Given the description of an element on the screen output the (x, y) to click on. 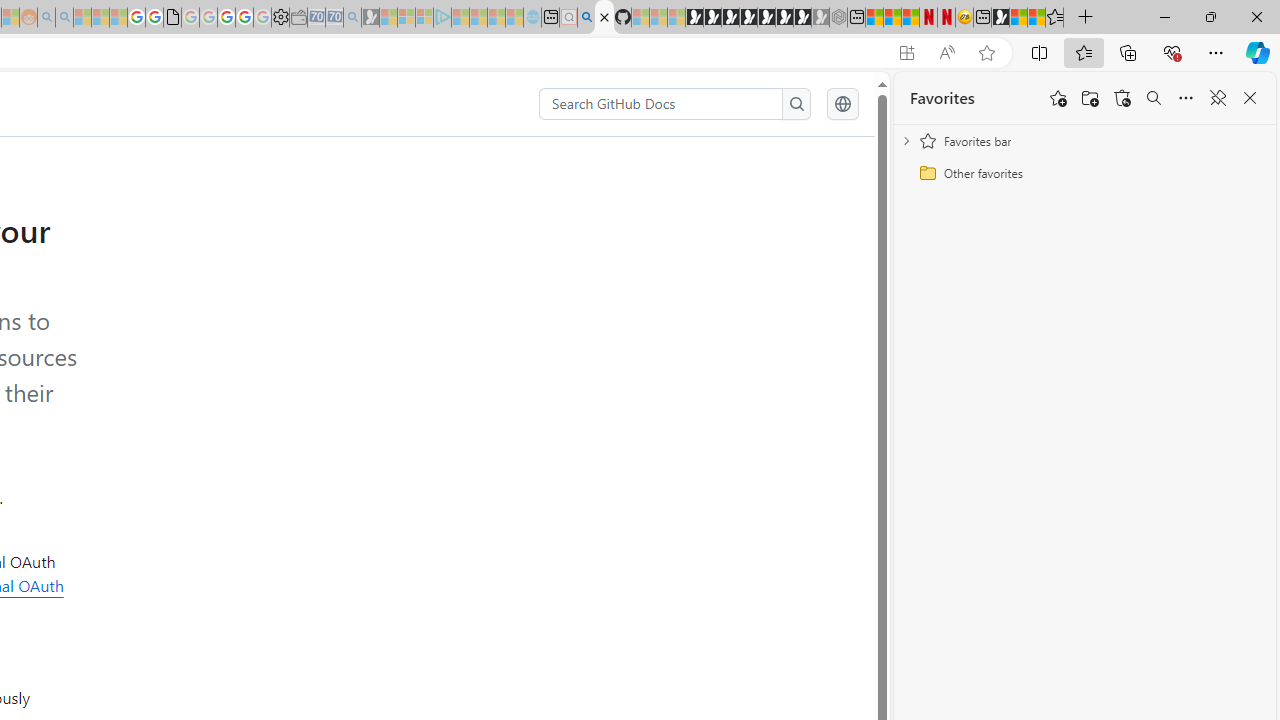
google_privacy_policy_zh-CN.pdf (171, 17)
Close (1256, 16)
App available. Install GitHub Docs (906, 53)
Unpin favorites (1217, 98)
Add folder (1089, 98)
Copilot (Ctrl+Shift+.) (1258, 52)
MSN (1000, 17)
